Given the description of an element on the screen output the (x, y) to click on. 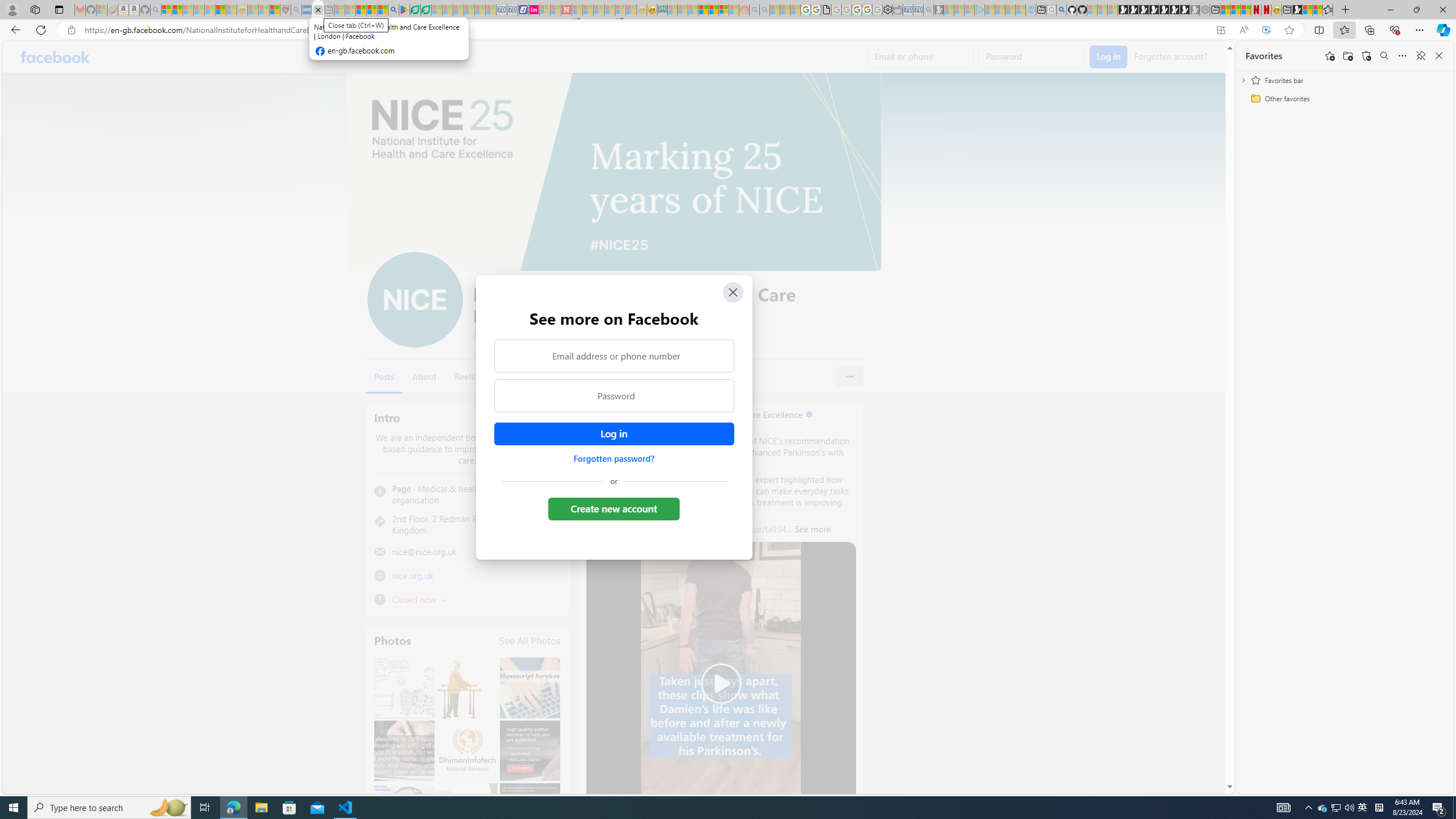
Local - MSN (274, 9)
Add this page to favorites (1330, 55)
Enhance video (1266, 29)
github - Search (1061, 9)
